Given the description of an element on the screen output the (x, y) to click on. 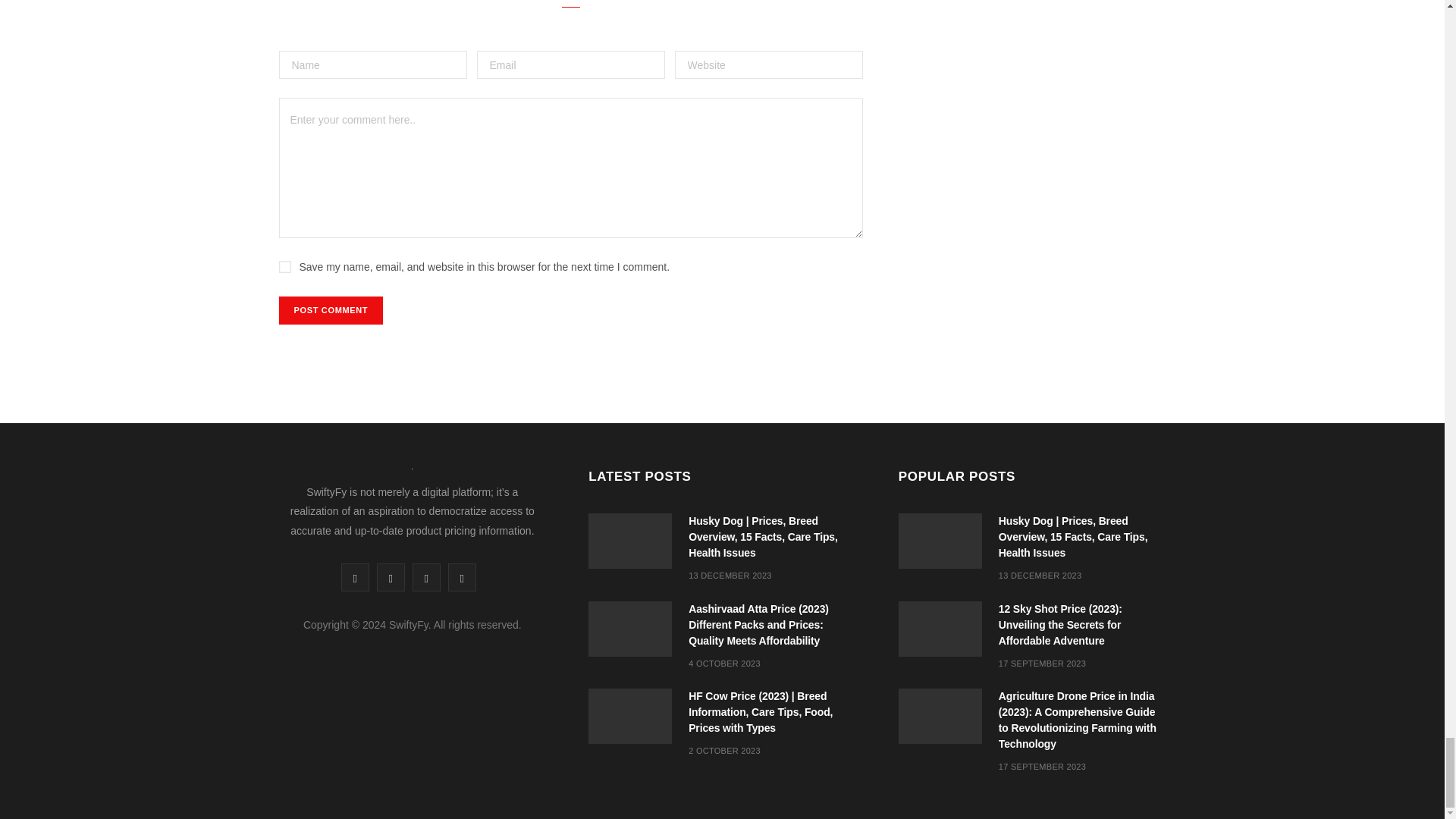
Post Comment (331, 310)
yes (285, 266)
